Given the description of an element on the screen output the (x, y) to click on. 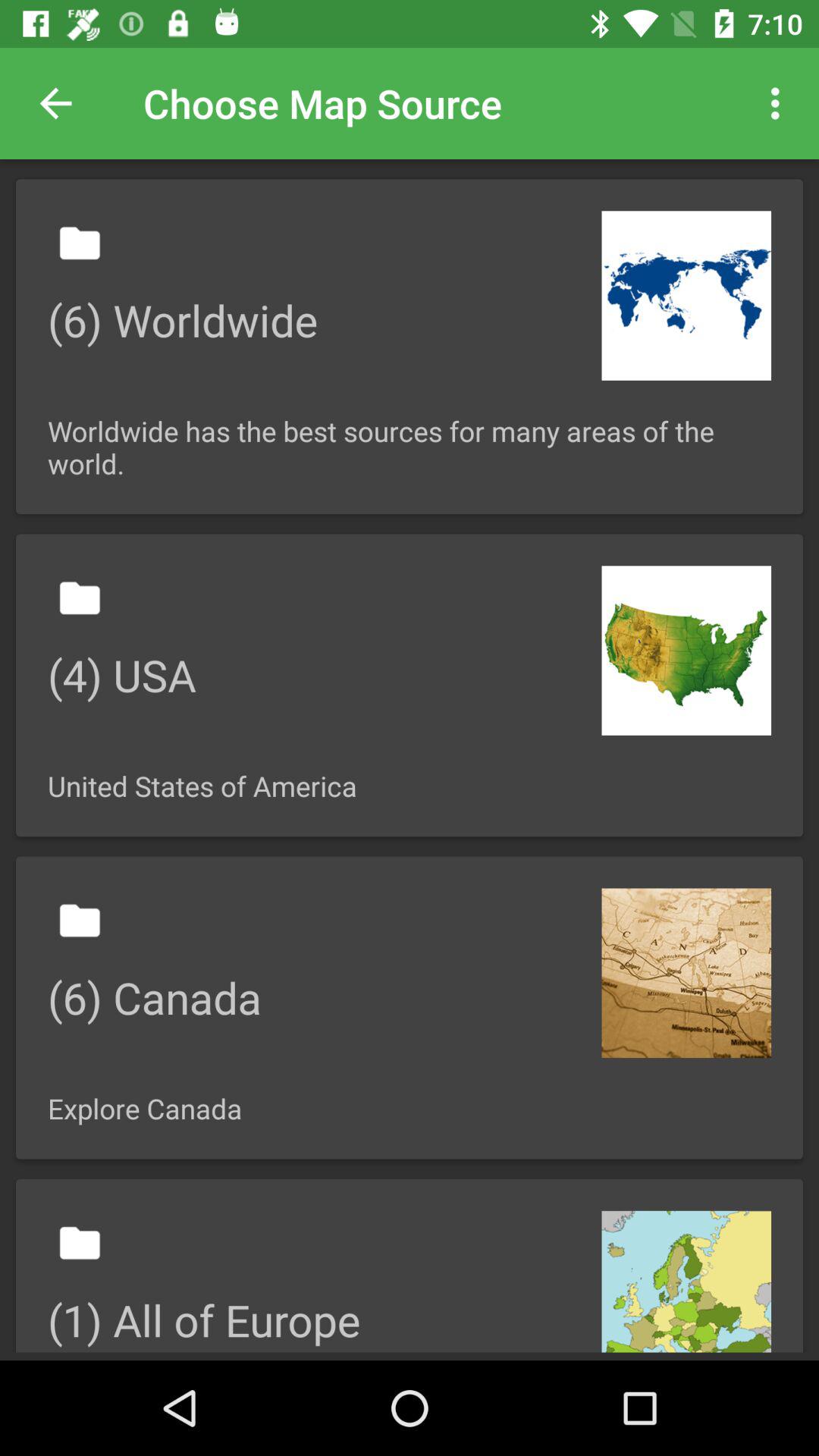
open the item to the right of choose map source (779, 103)
